Given the description of an element on the screen output the (x, y) to click on. 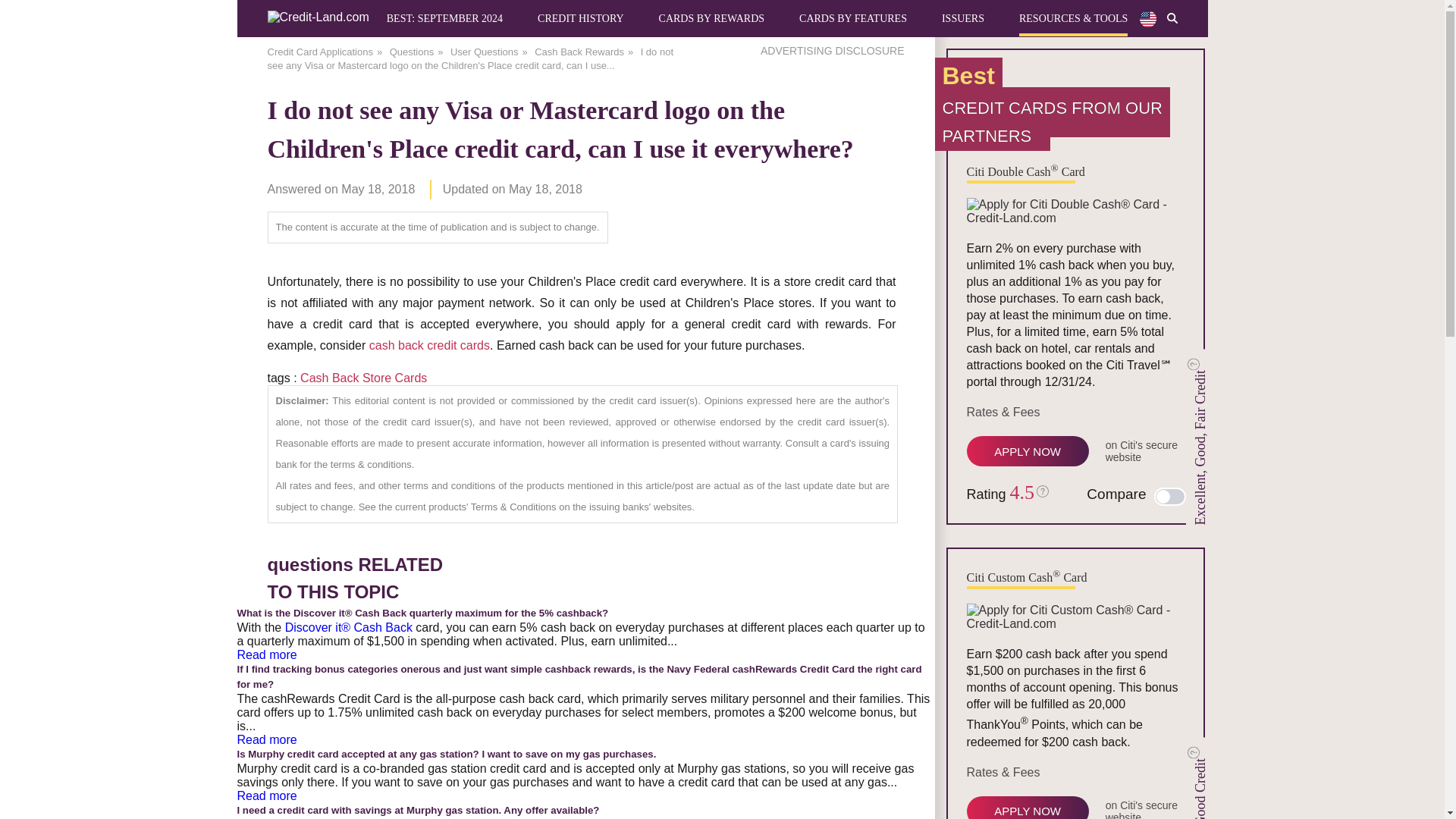
CARDS BY REWARDS (712, 18)
CARDS BY FEATURES (853, 18)
CREDIT HISTORY (580, 18)
BEST: SEPTEMBER 2024 (444, 18)
